Given the description of an element on the screen output the (x, y) to click on. 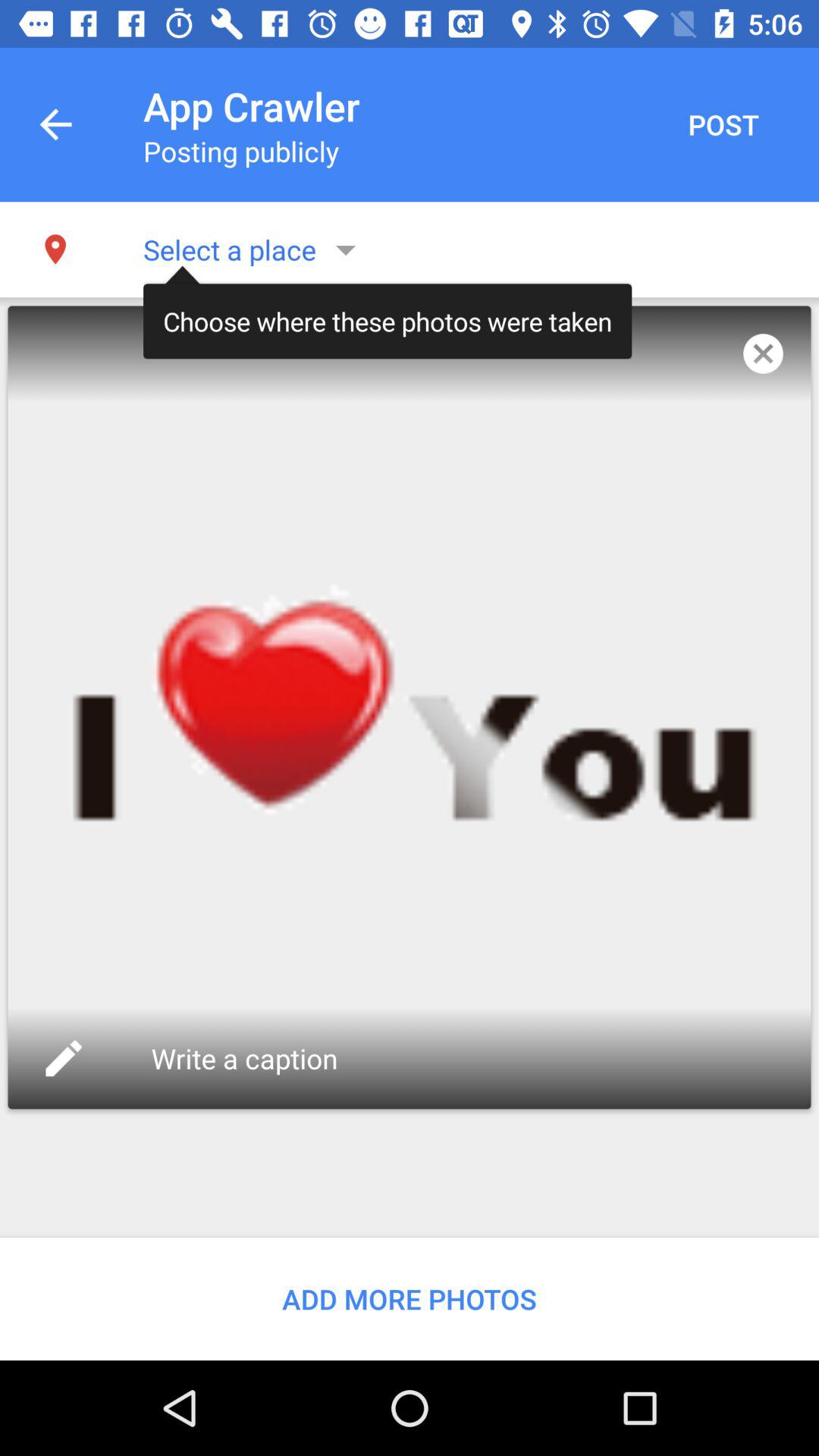
click the app next to the choose where these icon (763, 353)
